Given the description of an element on the screen output the (x, y) to click on. 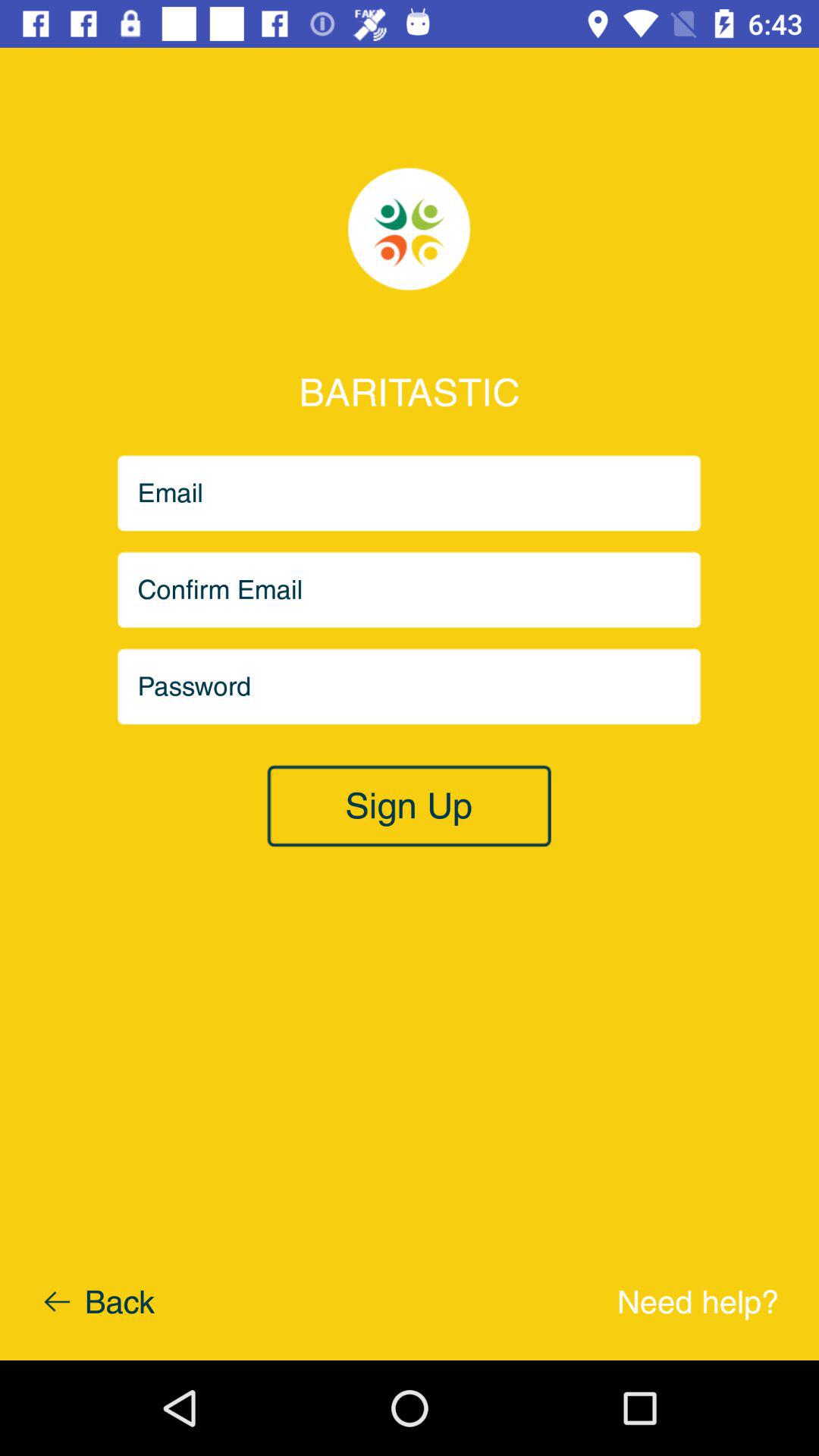
text box to enter password (409, 686)
